Given the description of an element on the screen output the (x, y) to click on. 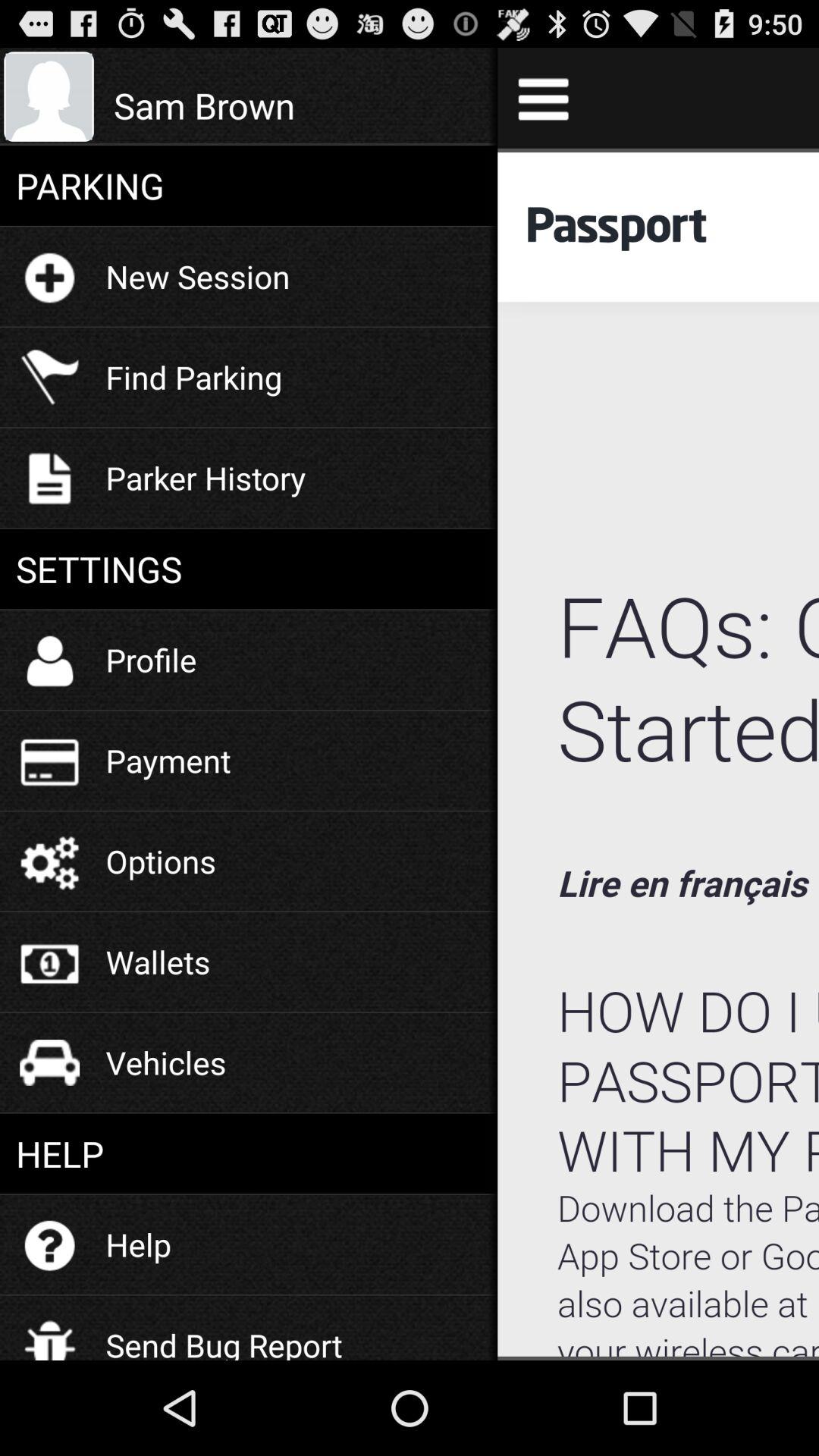
launch the icon below find parking icon (205, 477)
